Given the description of an element on the screen output the (x, y) to click on. 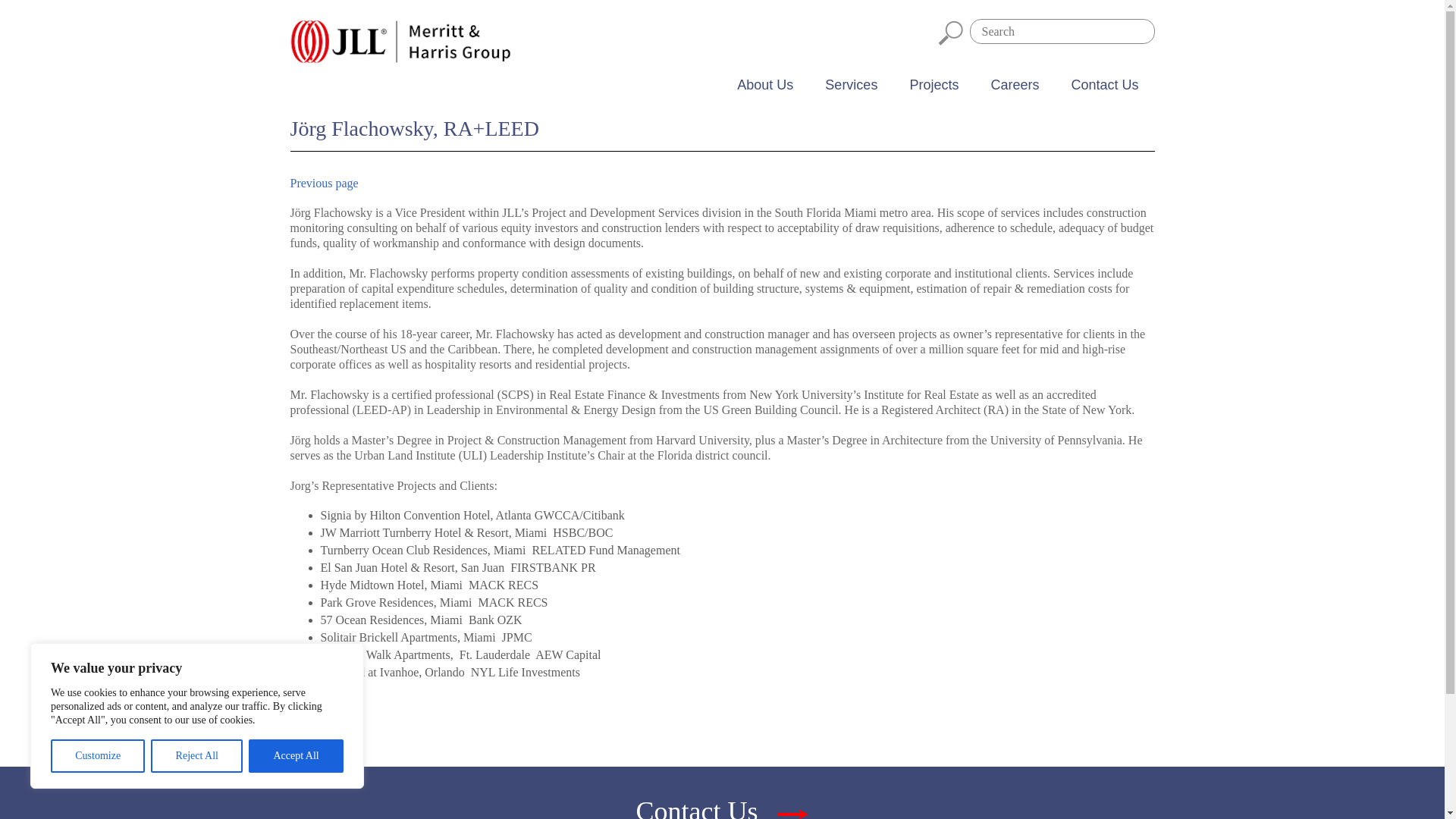
Customize (97, 756)
Projects (933, 84)
Services (850, 84)
Accept All (295, 756)
About Us (765, 84)
Reject All (197, 756)
